Given the description of an element on the screen output the (x, y) to click on. 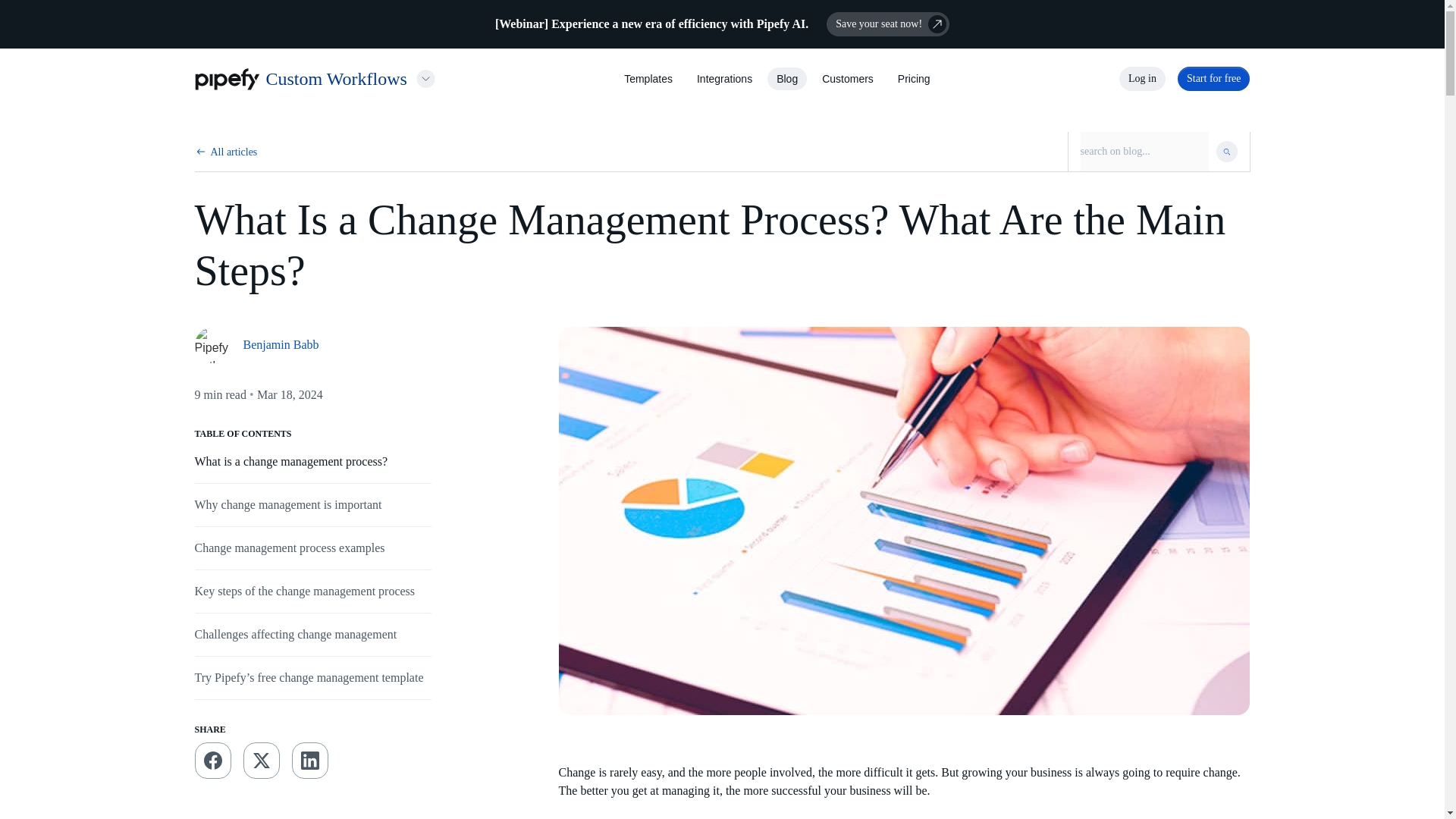
Pipefy (226, 78)
Key steps of the change management process (303, 590)
What is a change management process? (290, 461)
Start for free (1213, 78)
Pricing (914, 78)
Customers (847, 78)
All articles (234, 151)
Challenges affecting change management (294, 634)
Integrations (724, 78)
Templates (648, 78)
Benjamin Babb (311, 344)
Blog (786, 78)
Save your seat now! (888, 24)
Custom Workflows (335, 78)
search on blog... (1144, 151)
